Given the description of an element on the screen output the (x, y) to click on. 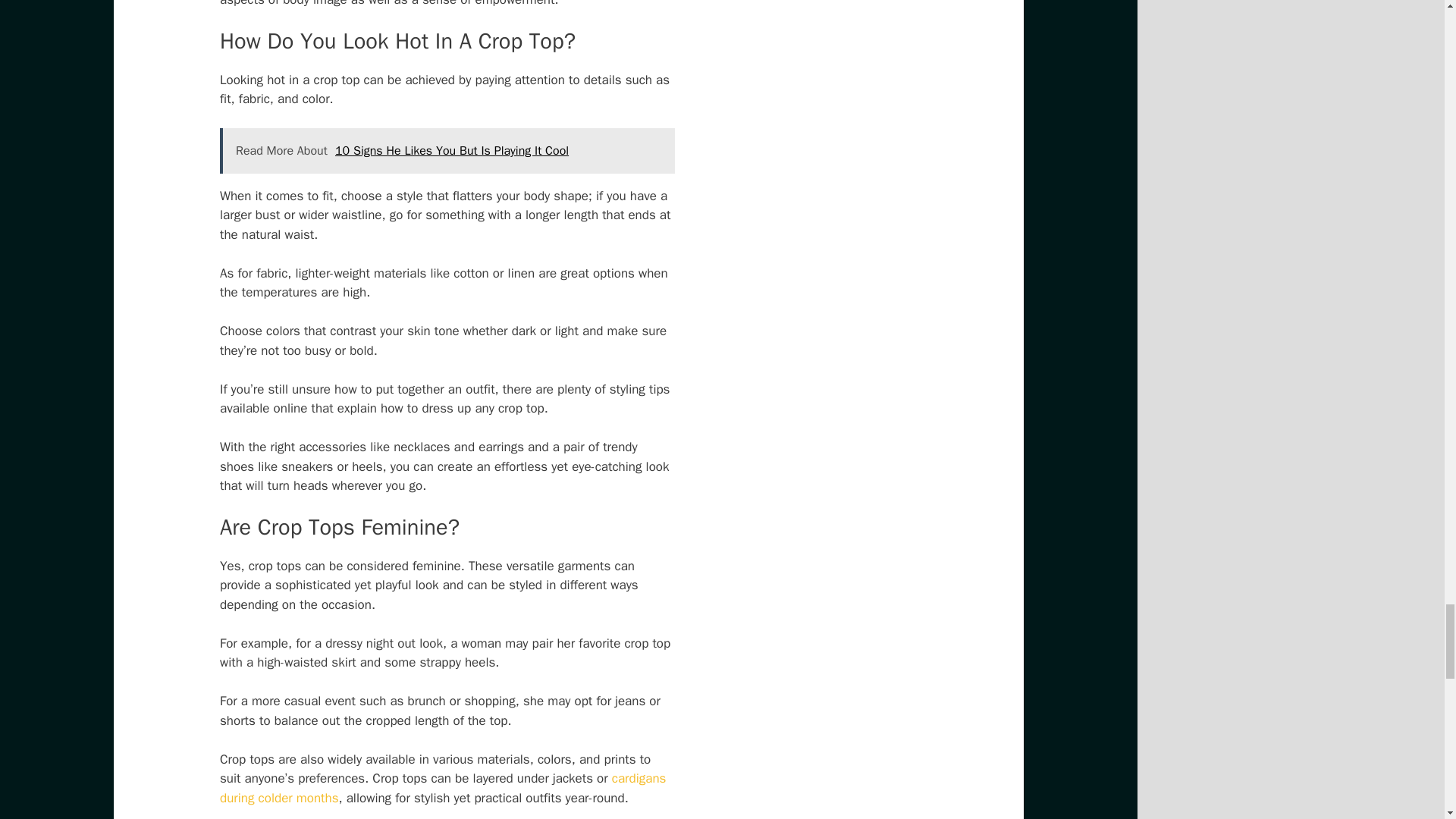
cardigans during colder months (442, 787)
